Given the description of an element on the screen output the (x, y) to click on. 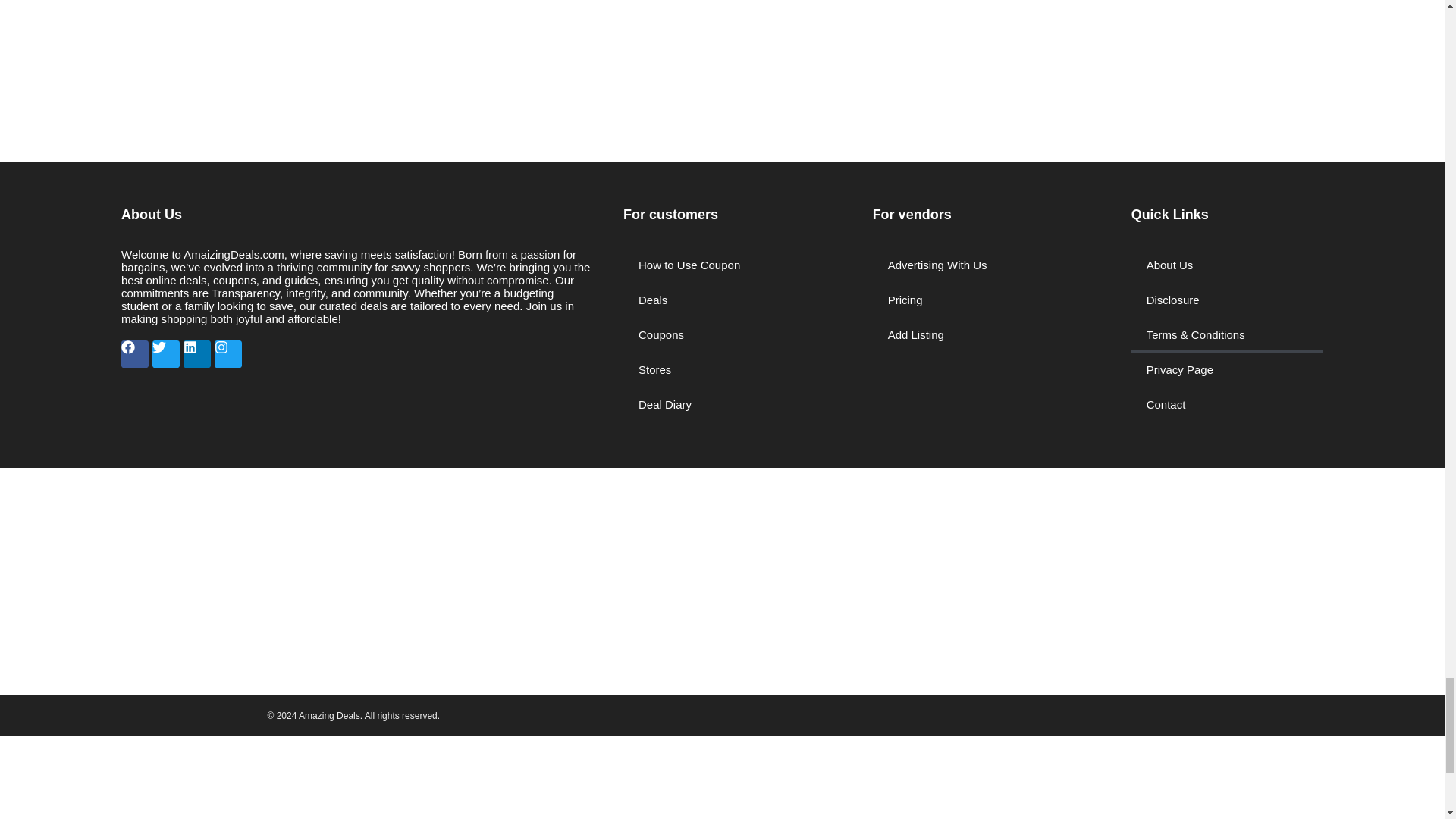
How to Use Coupon (733, 265)
Coupons (733, 334)
Advertising With Us (986, 265)
Pricing (986, 299)
Deal Diary (733, 404)
Stores (733, 369)
Deals (733, 299)
Add Listing (986, 334)
